Given the description of an element on the screen output the (x, y) to click on. 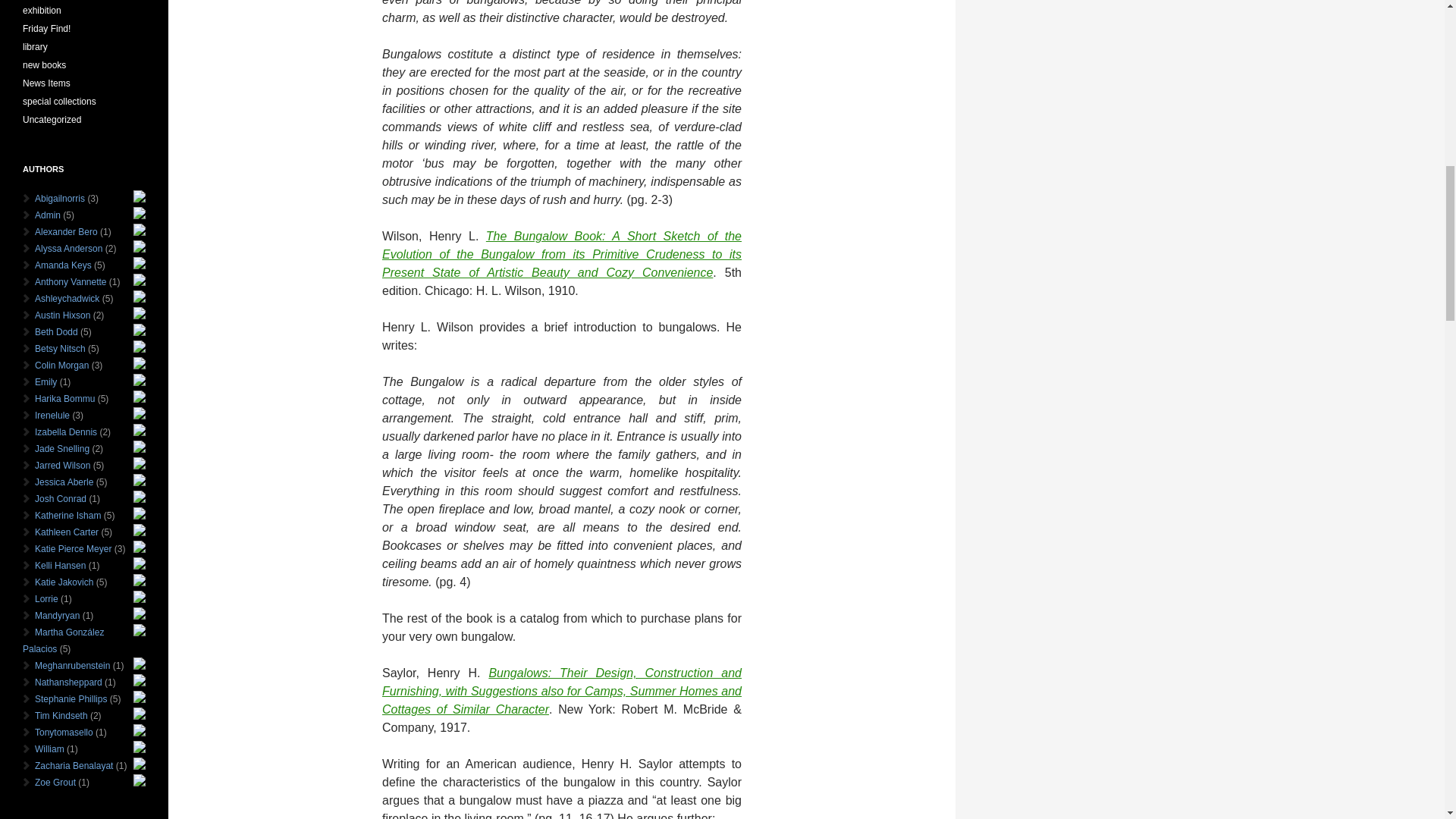
Friday Find! (46, 28)
exhibition (42, 9)
